Given the description of an element on the screen output the (x, y) to click on. 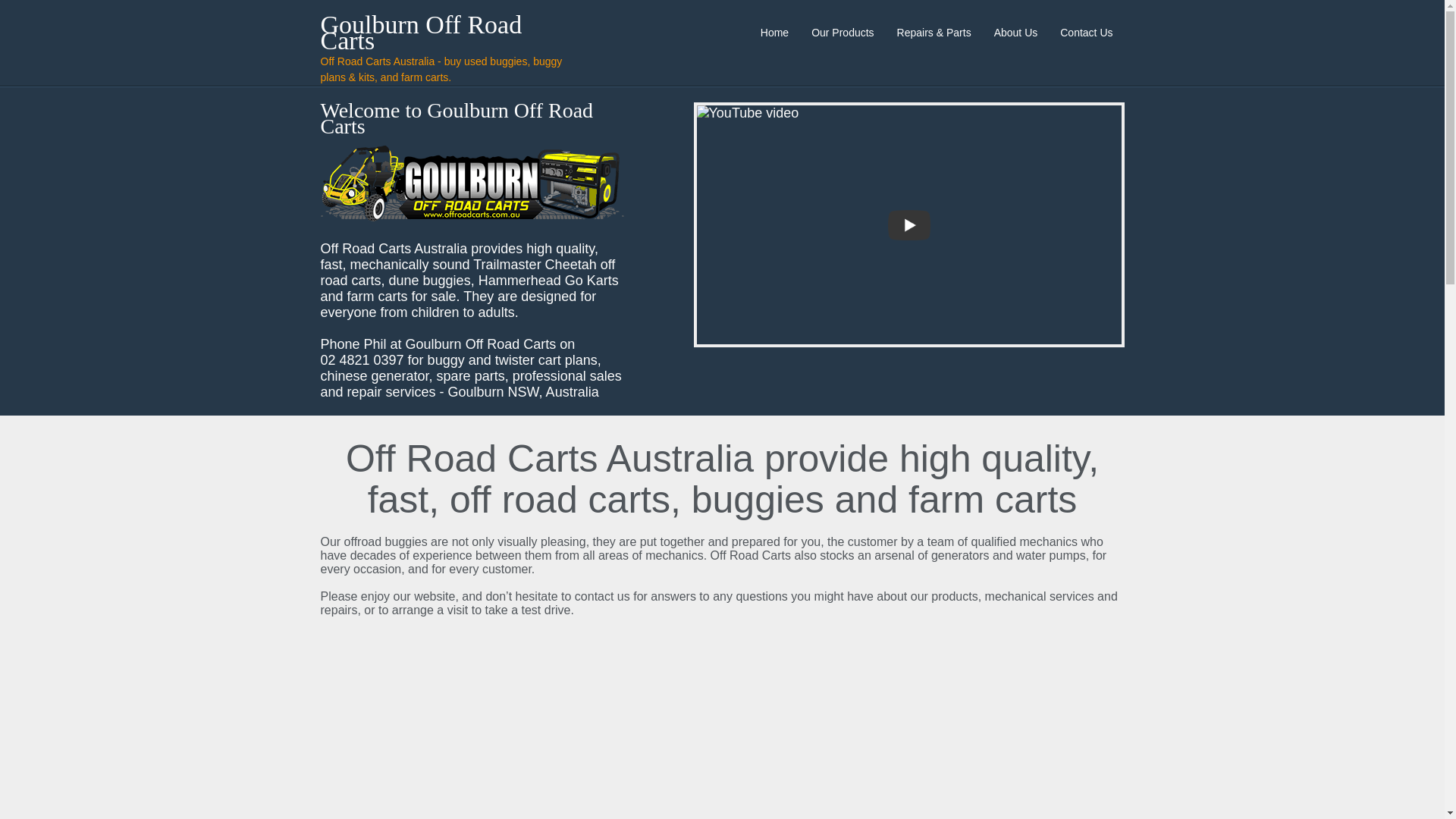
Our Products (842, 31)
Home (774, 31)
Contact Us (1086, 31)
Goulburn Off Road Carts (420, 32)
About Us (1015, 31)
